Given the description of an element on the screen output the (x, y) to click on. 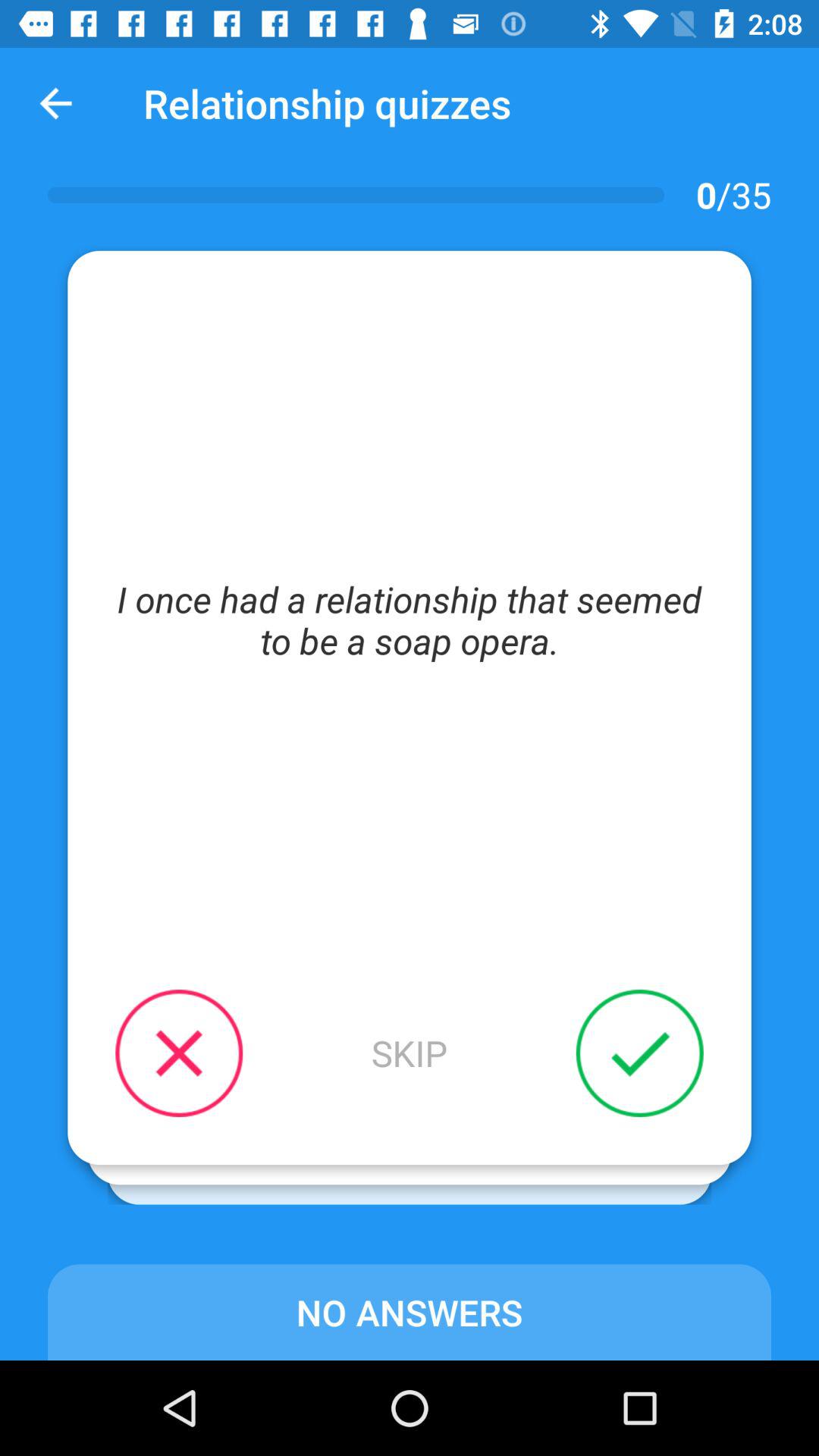
click on skip option (409, 1053)
click on the wrong option (178, 1053)
select the text which is at the bottom of the page (409, 1311)
